Given the description of an element on the screen output the (x, y) to click on. 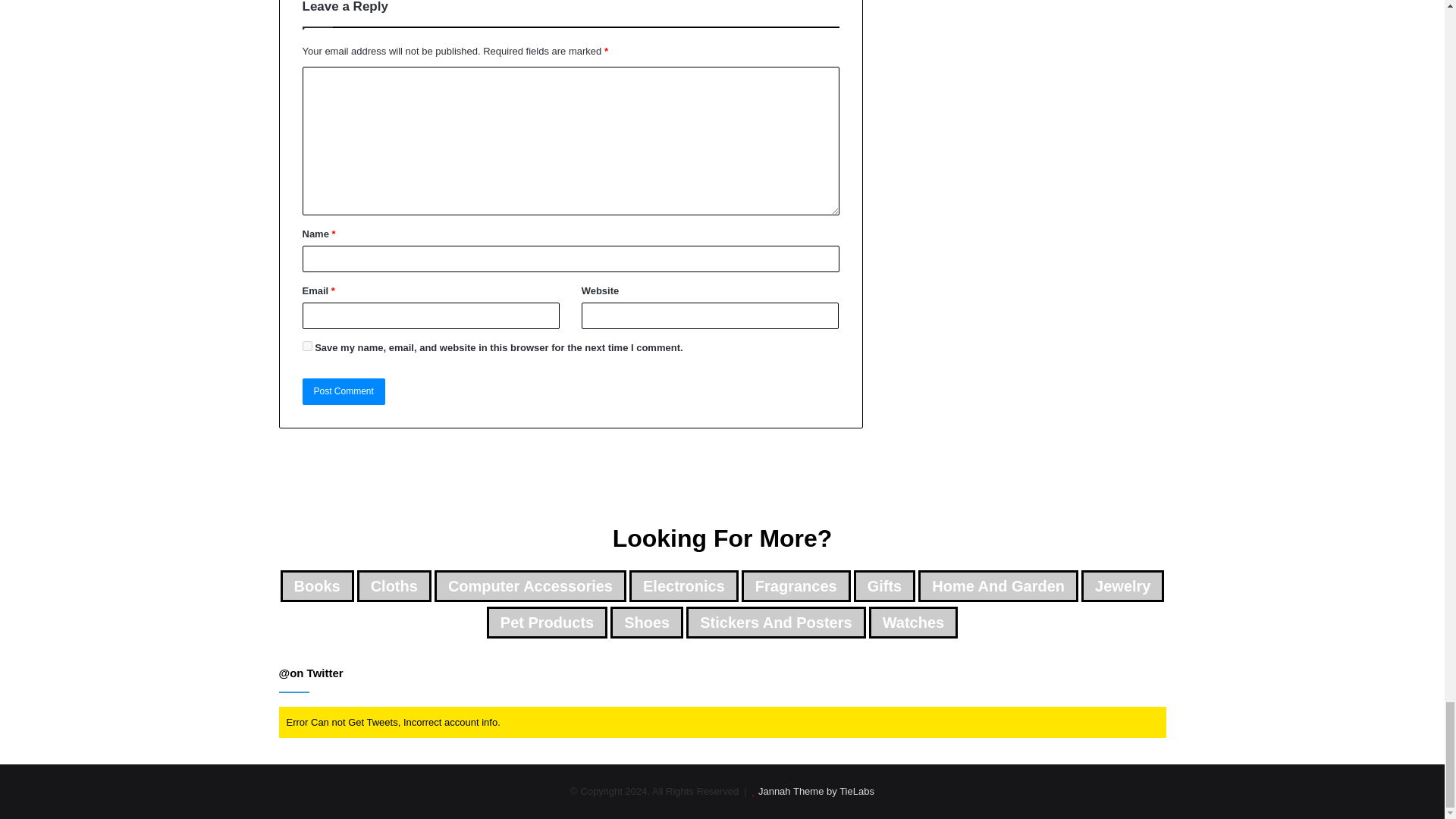
yes (306, 346)
Post Comment (342, 391)
